Given the description of an element on the screen output the (x, y) to click on. 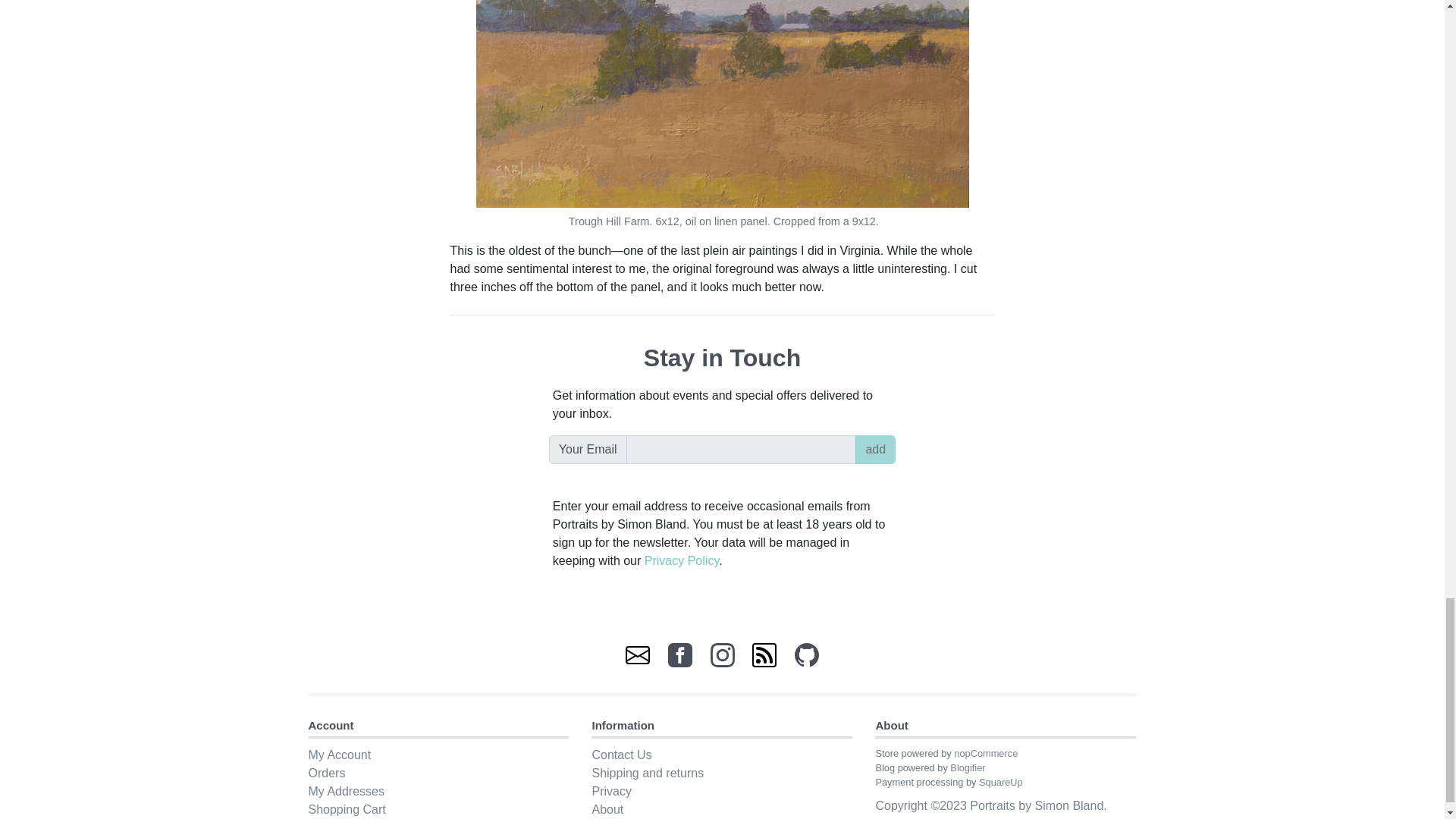
add (875, 449)
add (875, 449)
Privacy (721, 791)
My Account (438, 755)
Orders (438, 773)
My Addresses (438, 791)
Shipping and returns (721, 773)
SquareUp (1000, 781)
nopCommerce (985, 753)
Blogifier (967, 767)
